Given the description of an element on the screen output the (x, y) to click on. 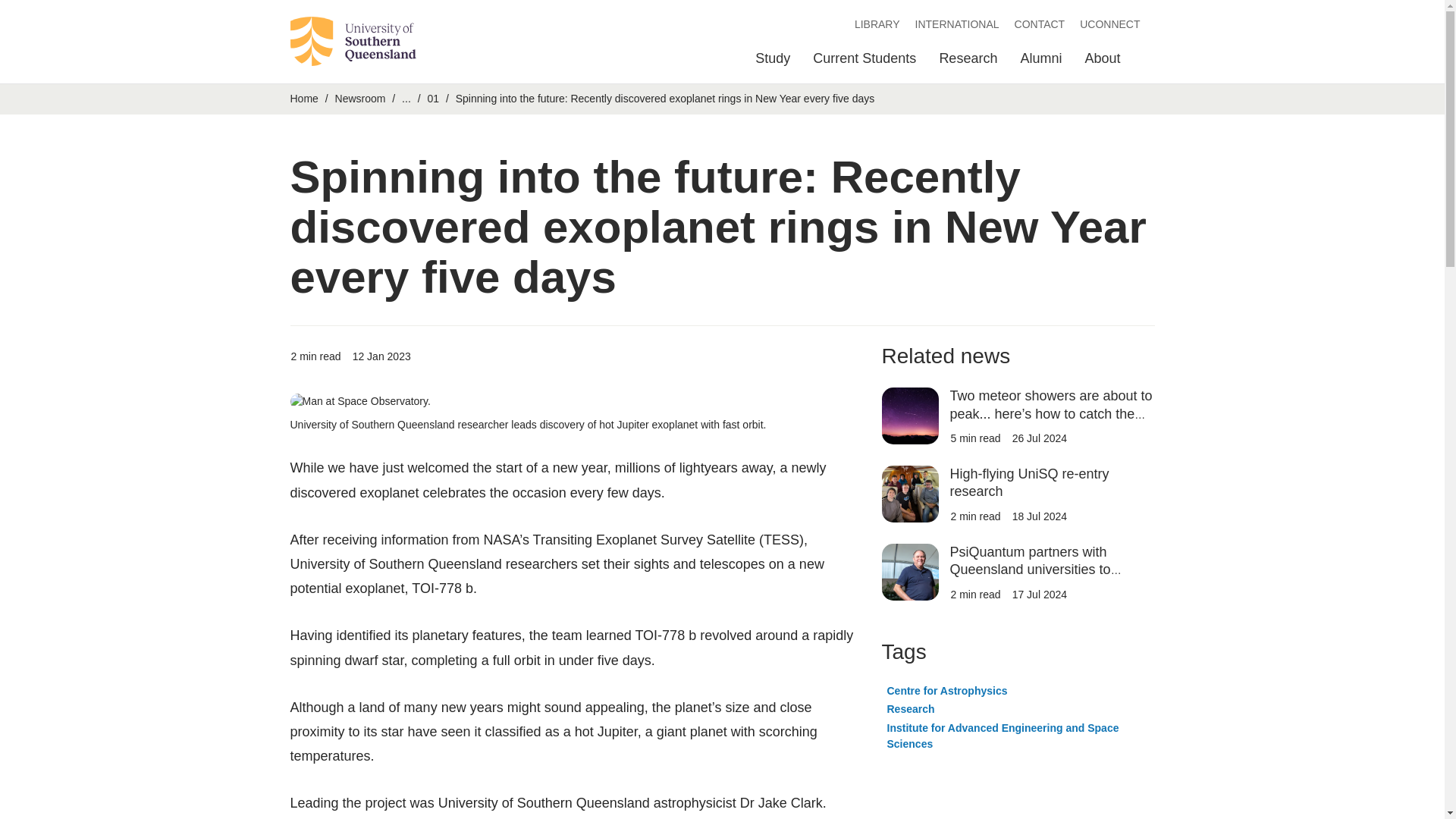
Study (773, 62)
Current Students (864, 62)
Research (968, 62)
